Given the description of an element on the screen output the (x, y) to click on. 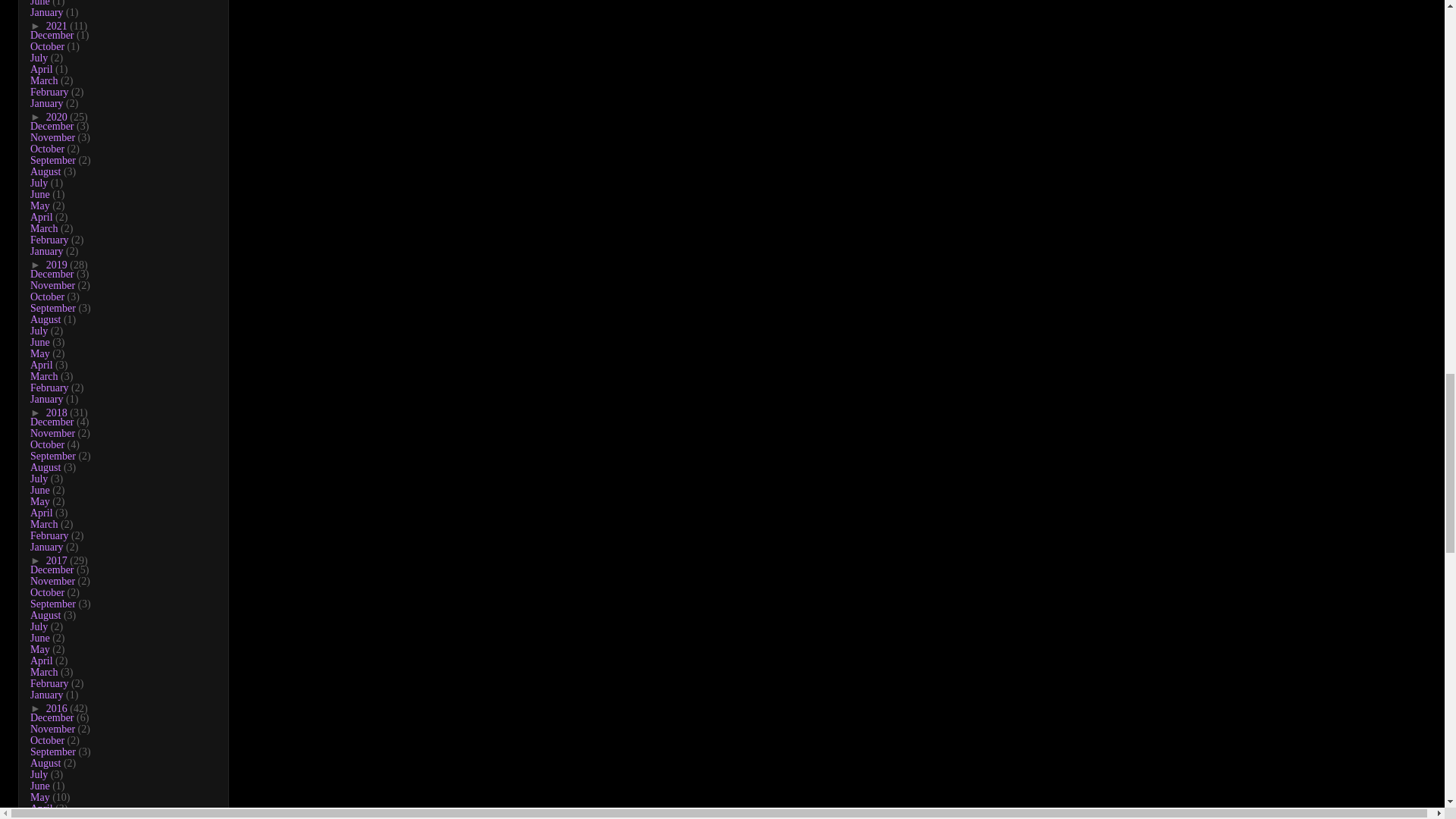
2021 (57, 25)
January (47, 12)
December (53, 34)
June (41, 3)
